Given the description of an element on the screen output the (x, y) to click on. 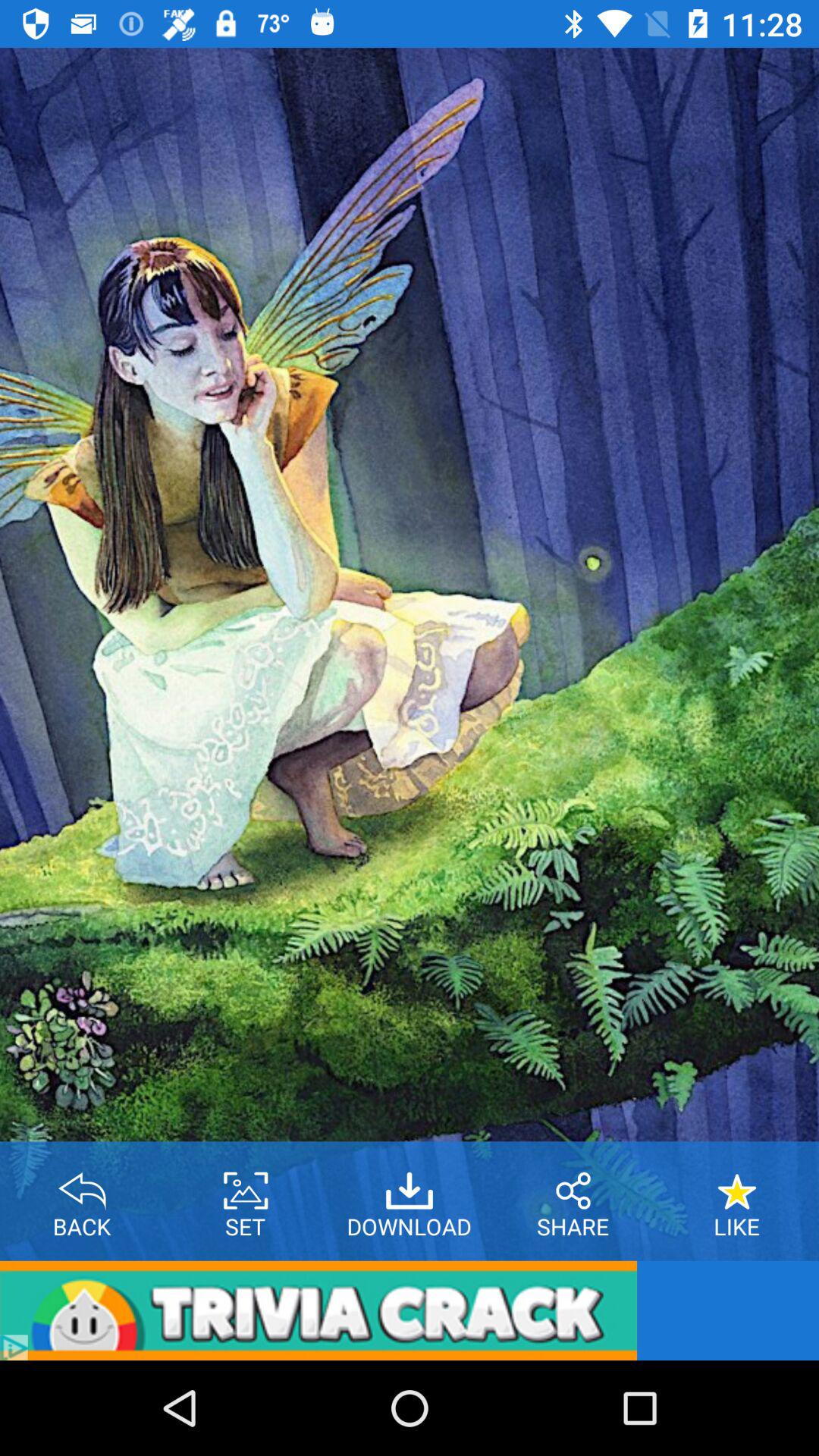
toggle download (409, 1185)
